Given the description of an element on the screen output the (x, y) to click on. 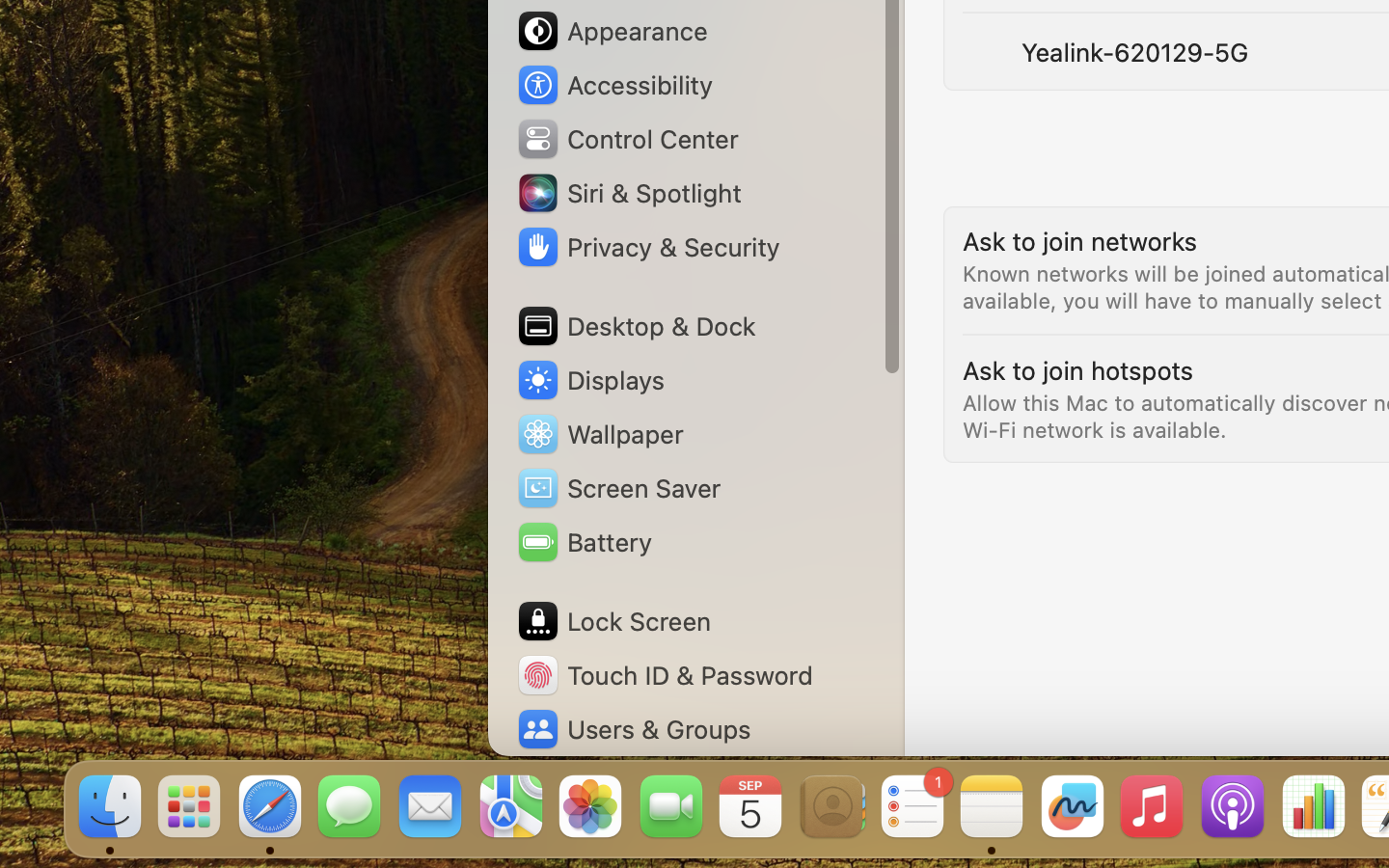
Ask to join networks Element type: AXStaticText (1080, 240)
Accessibility Element type: AXStaticText (614, 84)
Wallpaper Element type: AXStaticText (598, 433)
Battery Element type: AXStaticText (583, 541)
Ask to join hotspots Element type: AXStaticText (1078, 369)
